Given the description of an element on the screen output the (x, y) to click on. 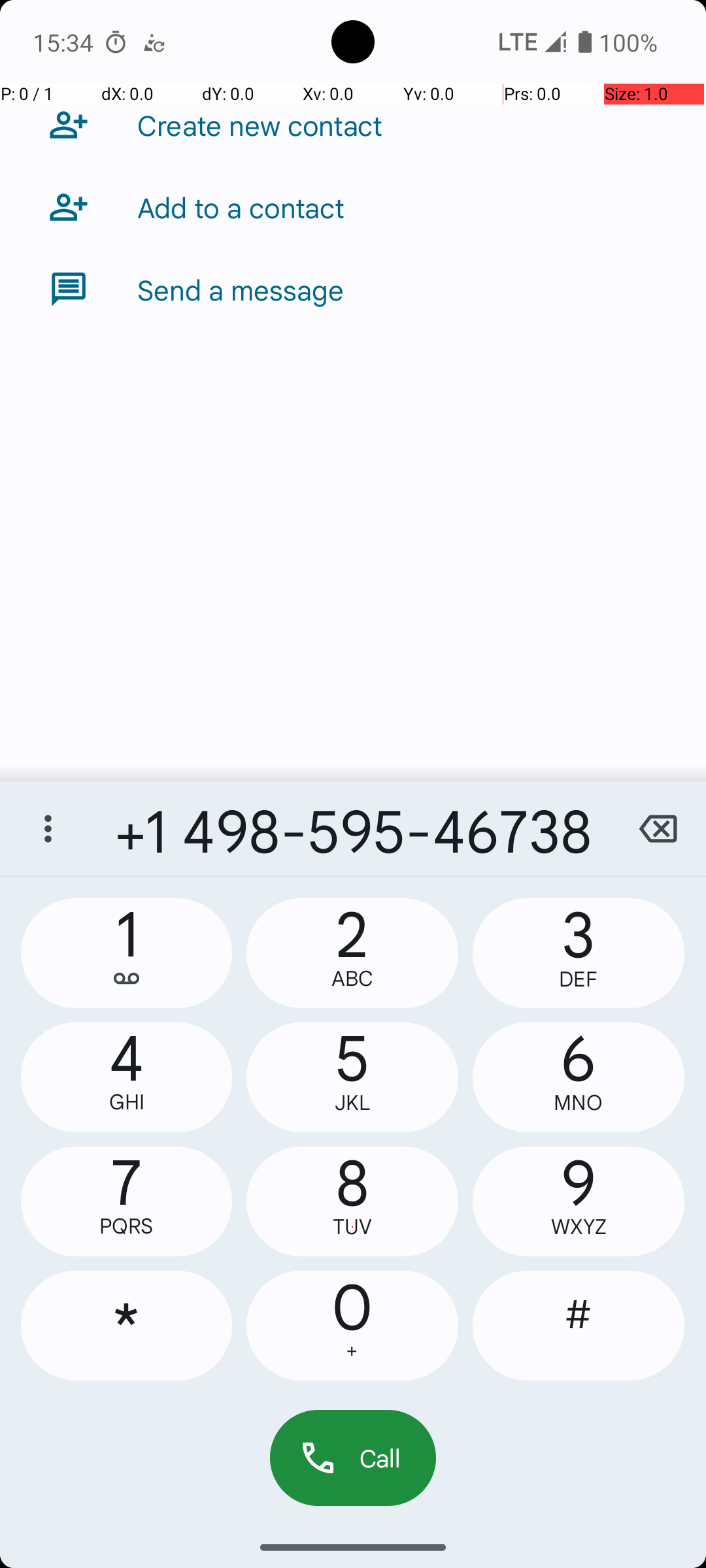
+1 498-595-46738 Element type: android.widget.EditText (352, 828)
Add to a contact Element type: android.widget.TextView (240, 206)
Send a message Element type: android.widget.TextView (240, 289)
